Given the description of an element on the screen output the (x, y) to click on. 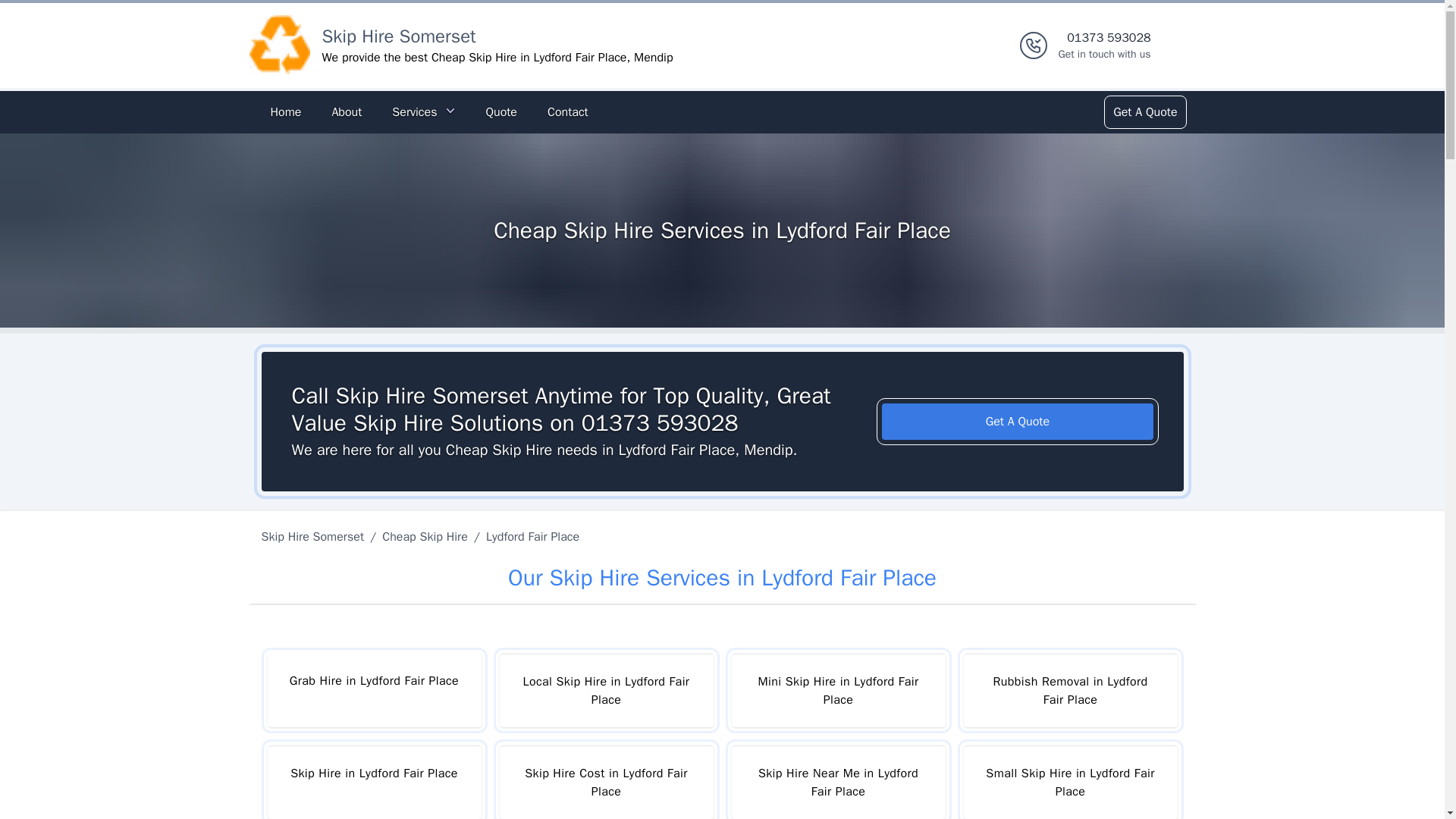
Skip Hire Somerset (398, 36)
Skip Hire Cost in Lydford Fair Place (606, 782)
Get A Quote (1017, 421)
Skip Hire Near Me in Lydford Fair Place (837, 782)
Local Skip Hire in Lydford Fair Place (606, 690)
Logo (278, 45)
Get A Quote (1144, 112)
Home (1104, 45)
Quote (285, 112)
Skip Hire in Lydford Fair Place (500, 112)
Skip Hire Somerset (373, 782)
Cheap Skip Hire (314, 536)
Rubbish Removal in Lydford Fair Place (424, 536)
Contact (1069, 690)
